Given the description of an element on the screen output the (x, y) to click on. 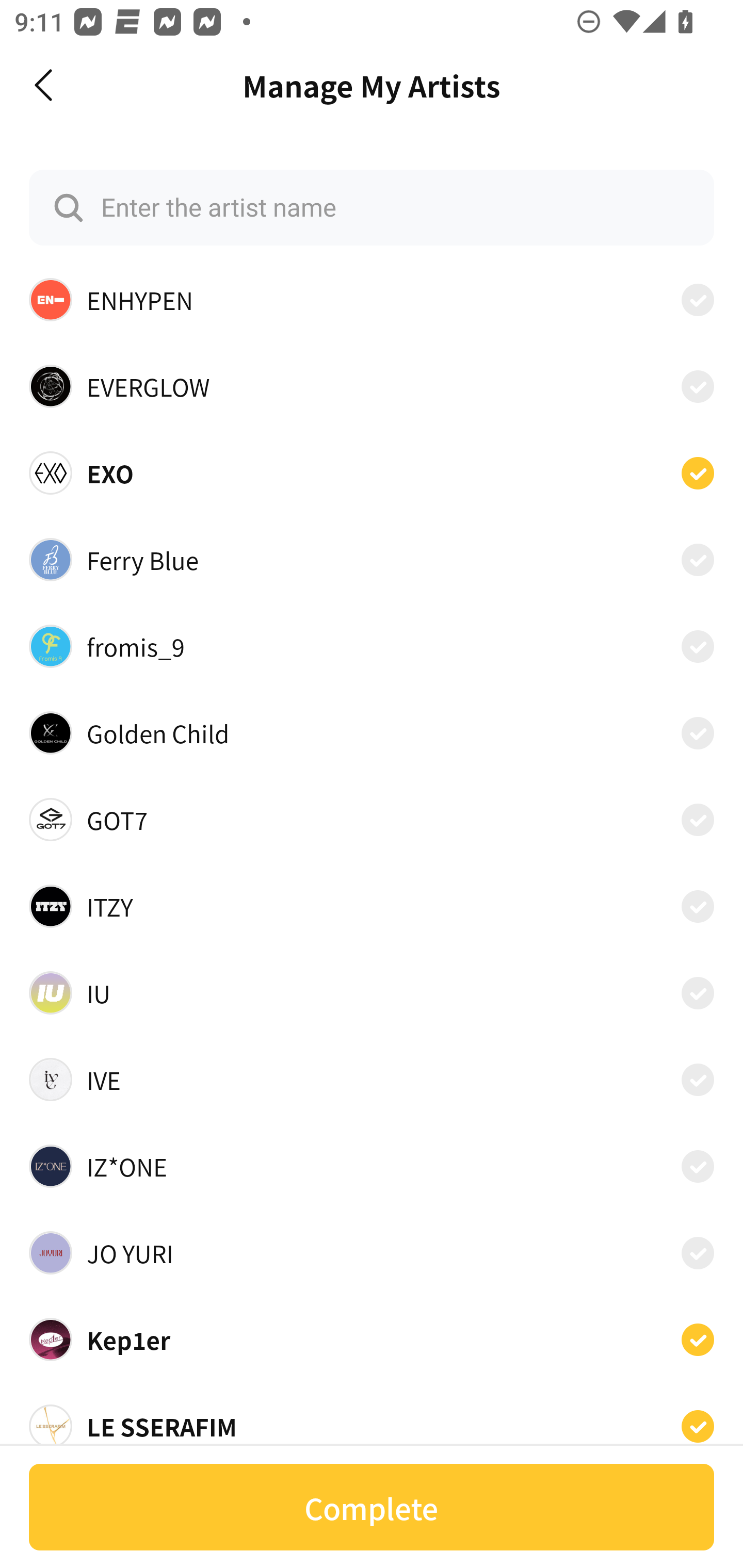
Enter the artist name (371, 207)
ENHYPEN (371, 299)
EVERGLOW (371, 386)
EXO (371, 472)
Ferry Blue (371, 559)
fromis_9 (371, 645)
Golden Child (371, 732)
GOT7 (371, 820)
ITZY (371, 906)
IU (371, 992)
IVE (371, 1079)
IZ*ONE (371, 1166)
JO YURI (371, 1252)
Kep1er (371, 1339)
LE SSERAFIM (371, 1424)
Complete (371, 1507)
